Given the description of an element on the screen output the (x, y) to click on. 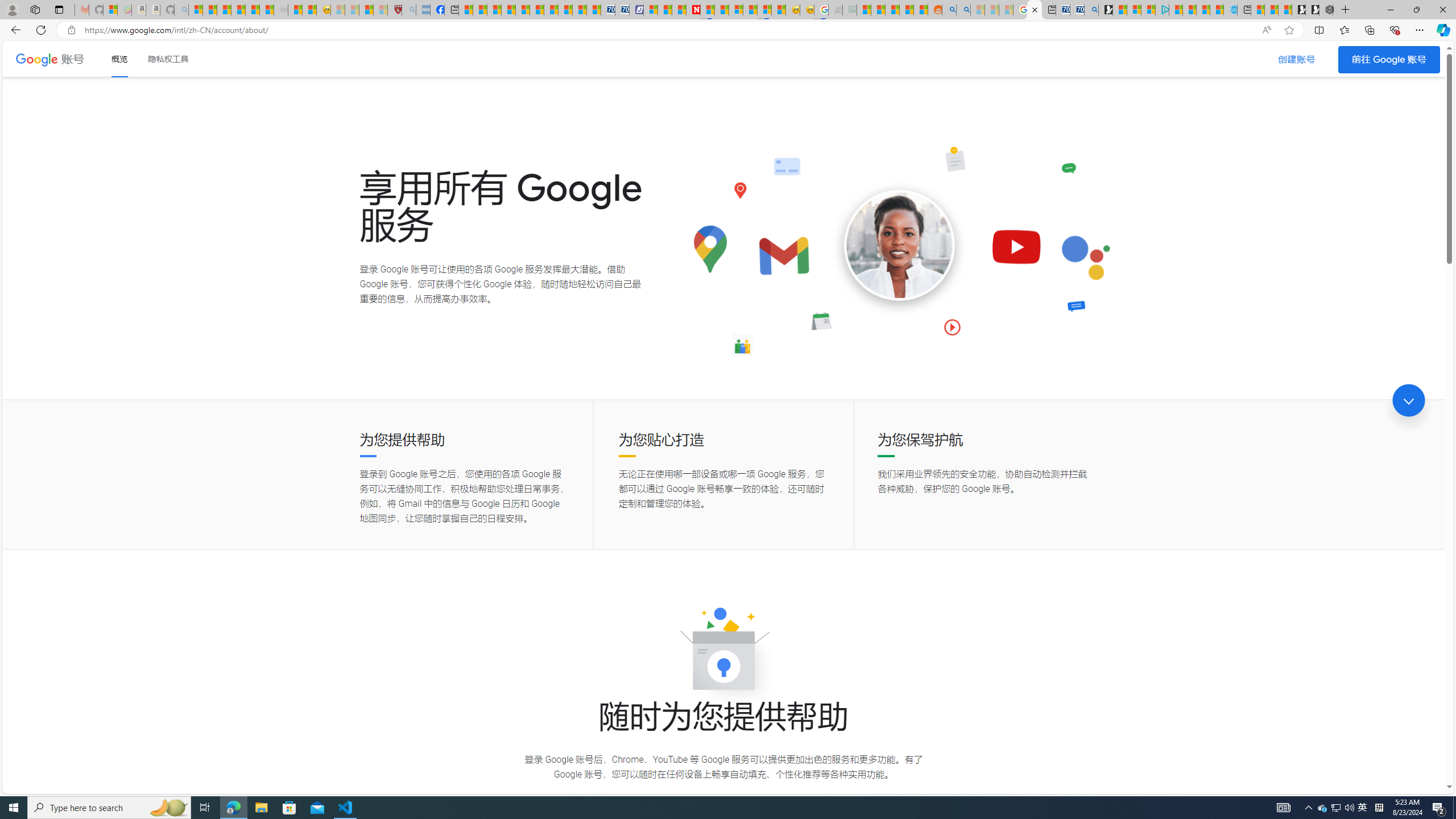
Bing Real Estate - Home sales and rental listings (1090, 9)
